Given the description of an element on the screen output the (x, y) to click on. 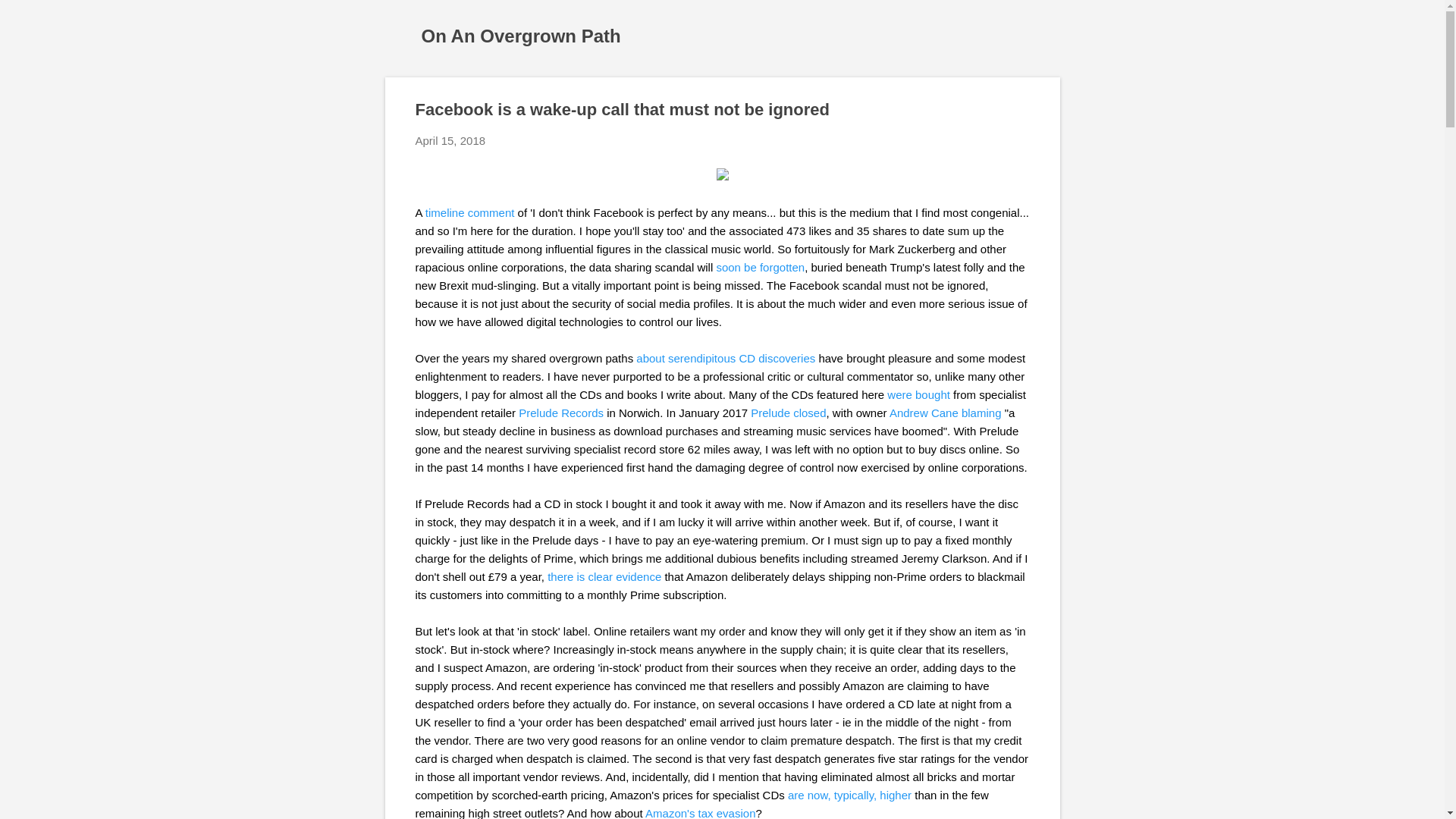
Search (29, 18)
Prelude Records (561, 412)
permanent link (450, 140)
there is clear evidence (604, 576)
are now, typically, higher (849, 794)
soon be forgotten (760, 267)
On An Overgrown Path (521, 35)
Andrew Cane blaming (945, 412)
about serendipitous CD discoveries (725, 358)
Prelude closed (788, 412)
were bought (918, 394)
timeline comment (470, 212)
Amazon's tax evasion (700, 812)
April 15, 2018 (450, 140)
